Given the description of an element on the screen output the (x, y) to click on. 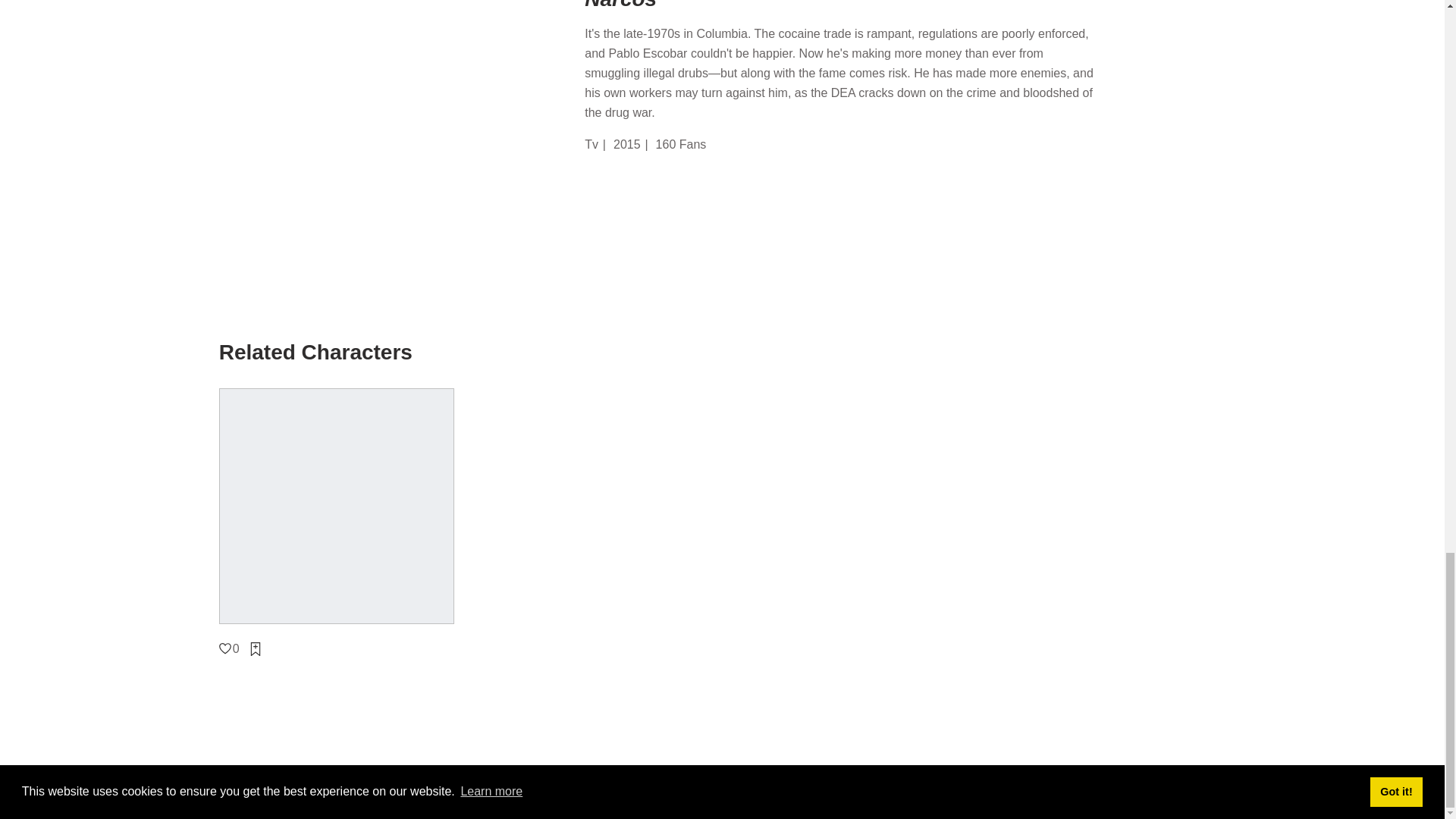
About (555, 797)
Contact (596, 797)
Home (517, 797)
Terms of Service (739, 797)
Narcos (882, 6)
Privacy Policy (658, 797)
Copyright Policy (826, 797)
